Given the description of an element on the screen output the (x, y) to click on. 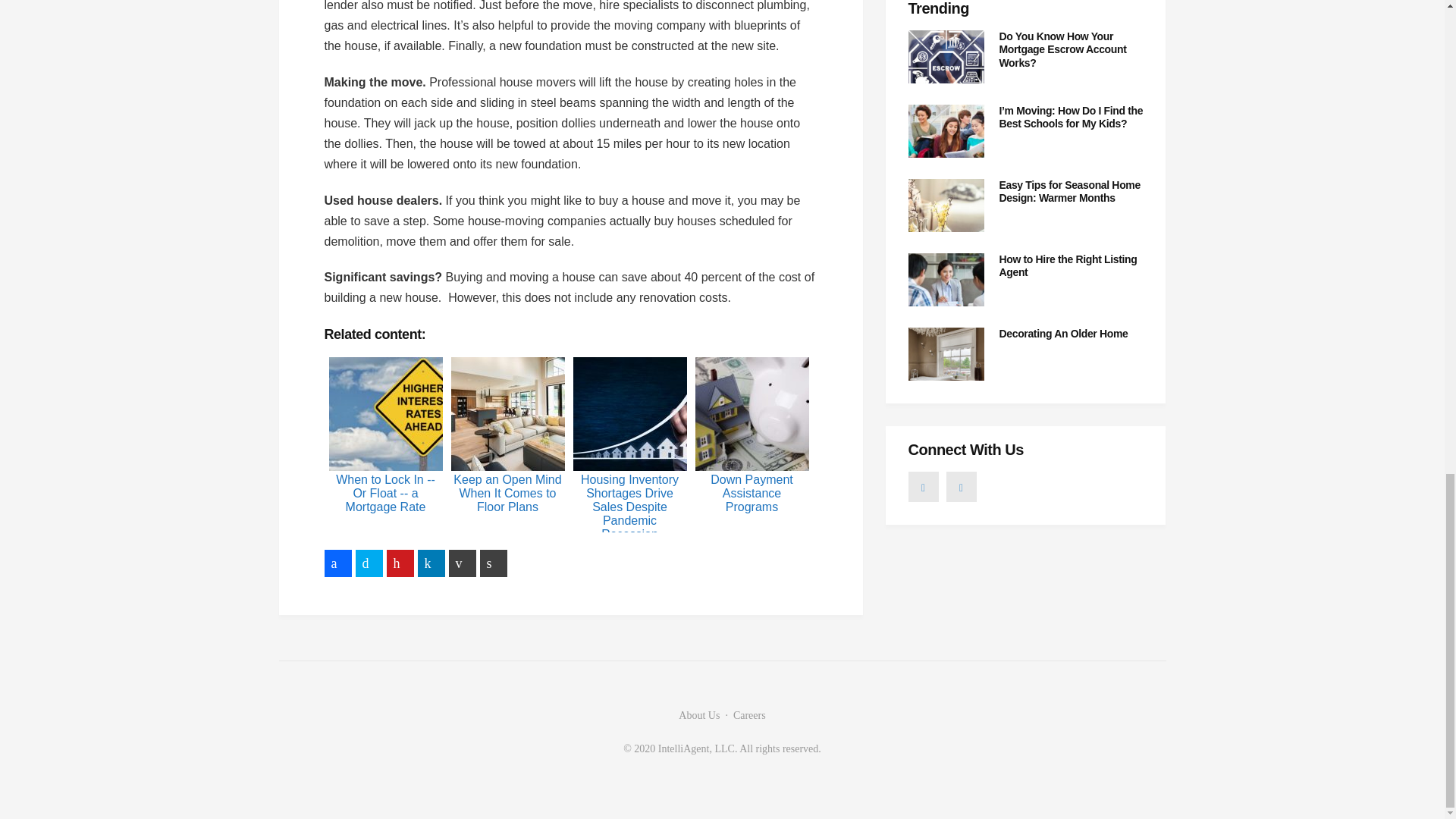
Share on LinkedIn (430, 563)
Share on Email (462, 563)
Share on Facebook (338, 563)
Share on Print (492, 563)
Share on Pinterest (400, 563)
Share on Twitter (368, 563)
